Given the description of an element on the screen output the (x, y) to click on. 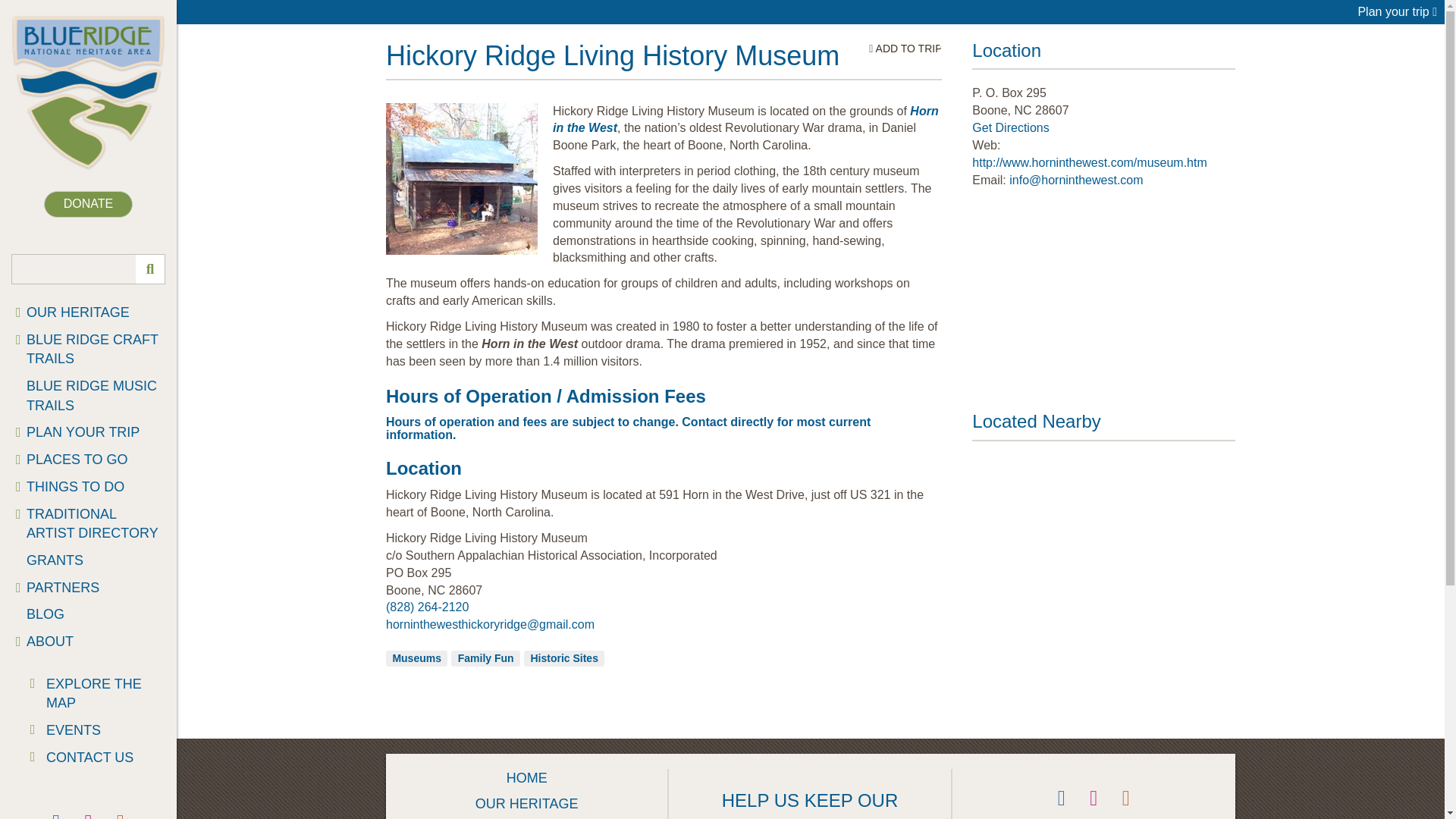
Family Fun (485, 658)
OUR HERITAGE (88, 312)
Historic Sites (564, 658)
Search (88, 268)
Donate (87, 203)
Search Submit (149, 268)
DONATE (87, 203)
Museums (415, 658)
